Given the description of an element on the screen output the (x, y) to click on. 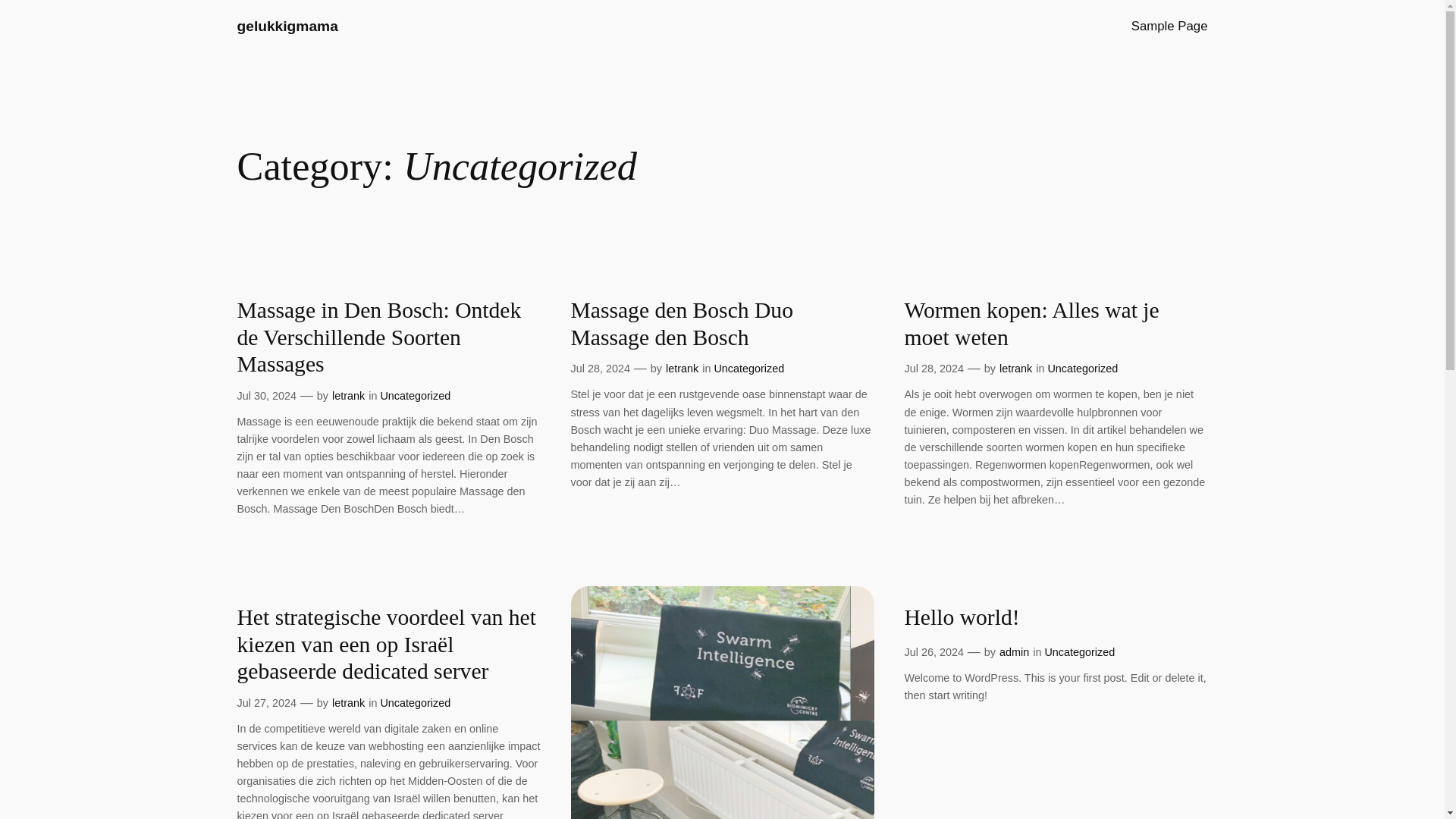
Jul 26, 2024 (933, 652)
letrank (681, 368)
Jul 30, 2024 (265, 395)
Hello world! (961, 617)
Uncategorized (414, 702)
letrank (348, 702)
Sample Page (1169, 26)
Uncategorized (414, 395)
Jul 28, 2024 (933, 368)
Massage den Bosch Duo Massage den Bosch (721, 324)
letrank (348, 395)
admin (1013, 652)
Jul 28, 2024 (599, 368)
Uncategorized (748, 368)
letrank (1015, 368)
